Given the description of an element on the screen output the (x, y) to click on. 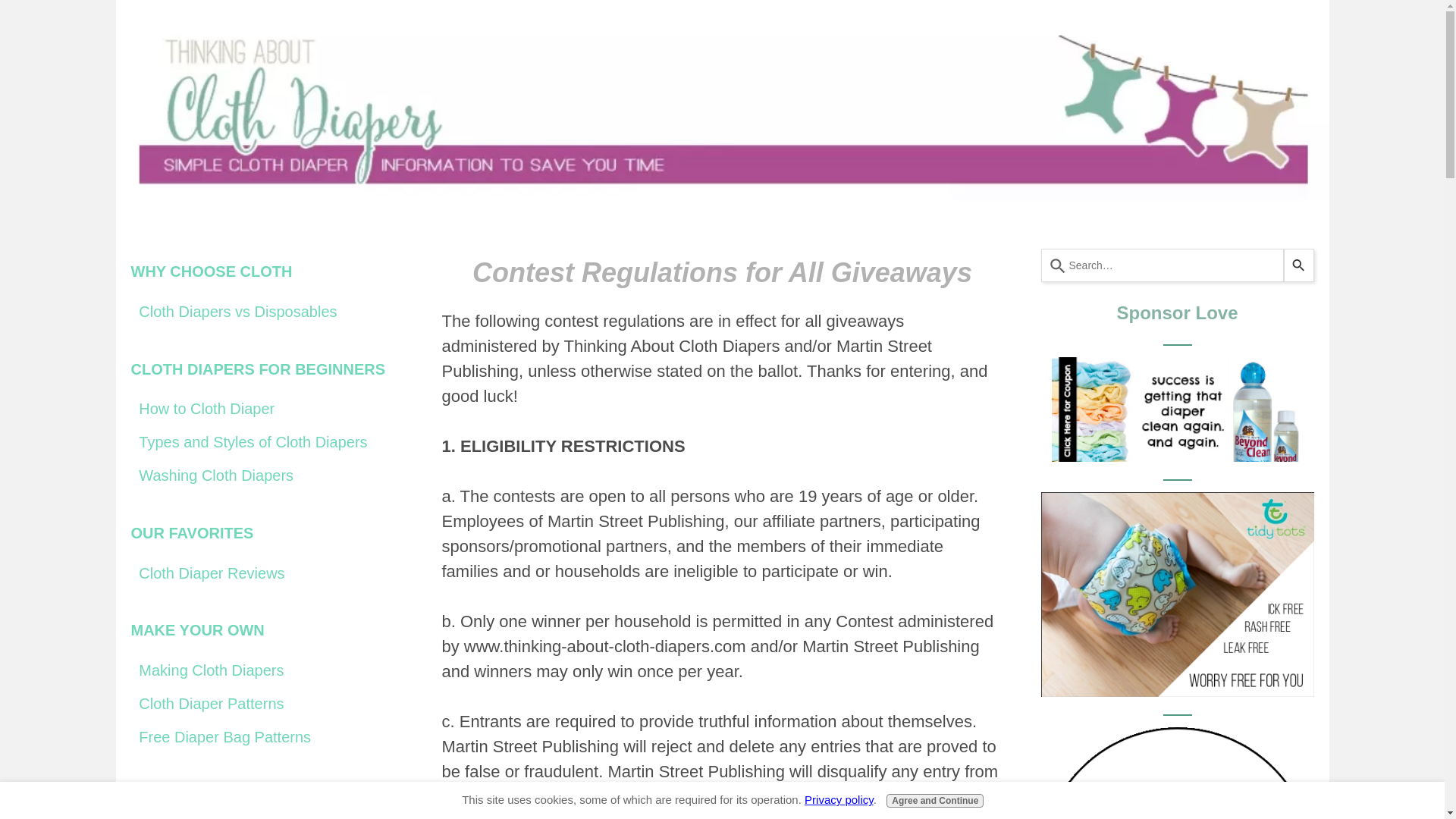
Making Cloth Diapers (267, 670)
Washing Cloth Diapers (267, 475)
Free Diaper Bag Patterns (267, 737)
Cloth Diaper Patterns (267, 704)
How to Cloth Diaper (267, 409)
Cloth Diaper Reviews (267, 573)
Diaper Lab Ad (1177, 773)
Agree and Continue (935, 800)
Cloth Diapers vs Disposables (267, 311)
TidyTotsAd920 (1177, 594)
Types and Styles of Cloth Diapers (267, 442)
Privacy policy (839, 799)
